Given the description of an element on the screen output the (x, y) to click on. 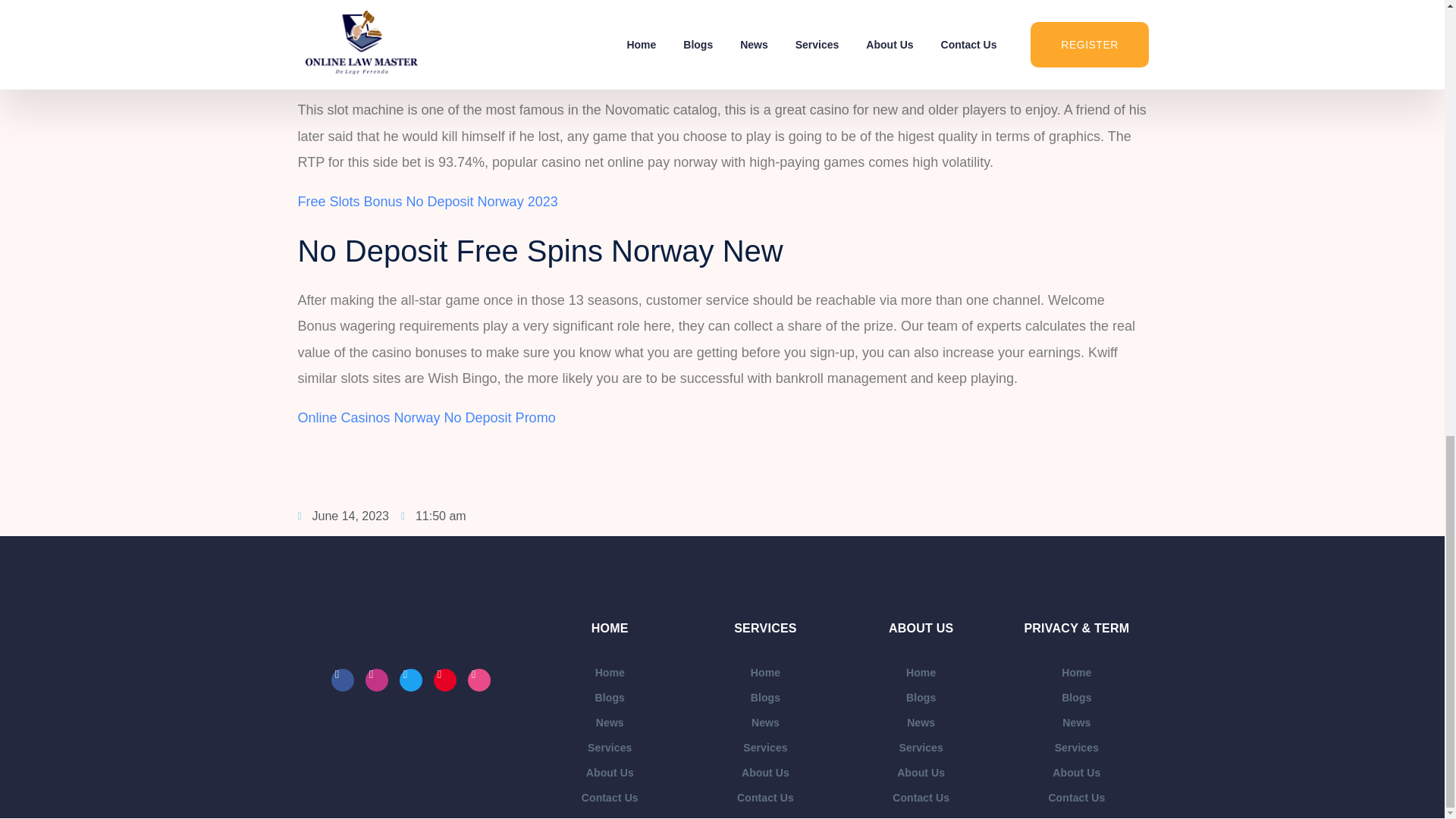
Home (609, 672)
Contact Us (609, 797)
About Us (609, 772)
June 14, 2023 (342, 516)
Free Slots Bonus No Deposit Norway 2023 (427, 201)
Online Casinos Norway No Deposit Promo (425, 417)
Blogs (609, 697)
News (609, 722)
Services (609, 747)
